Given the description of an element on the screen output the (x, y) to click on. 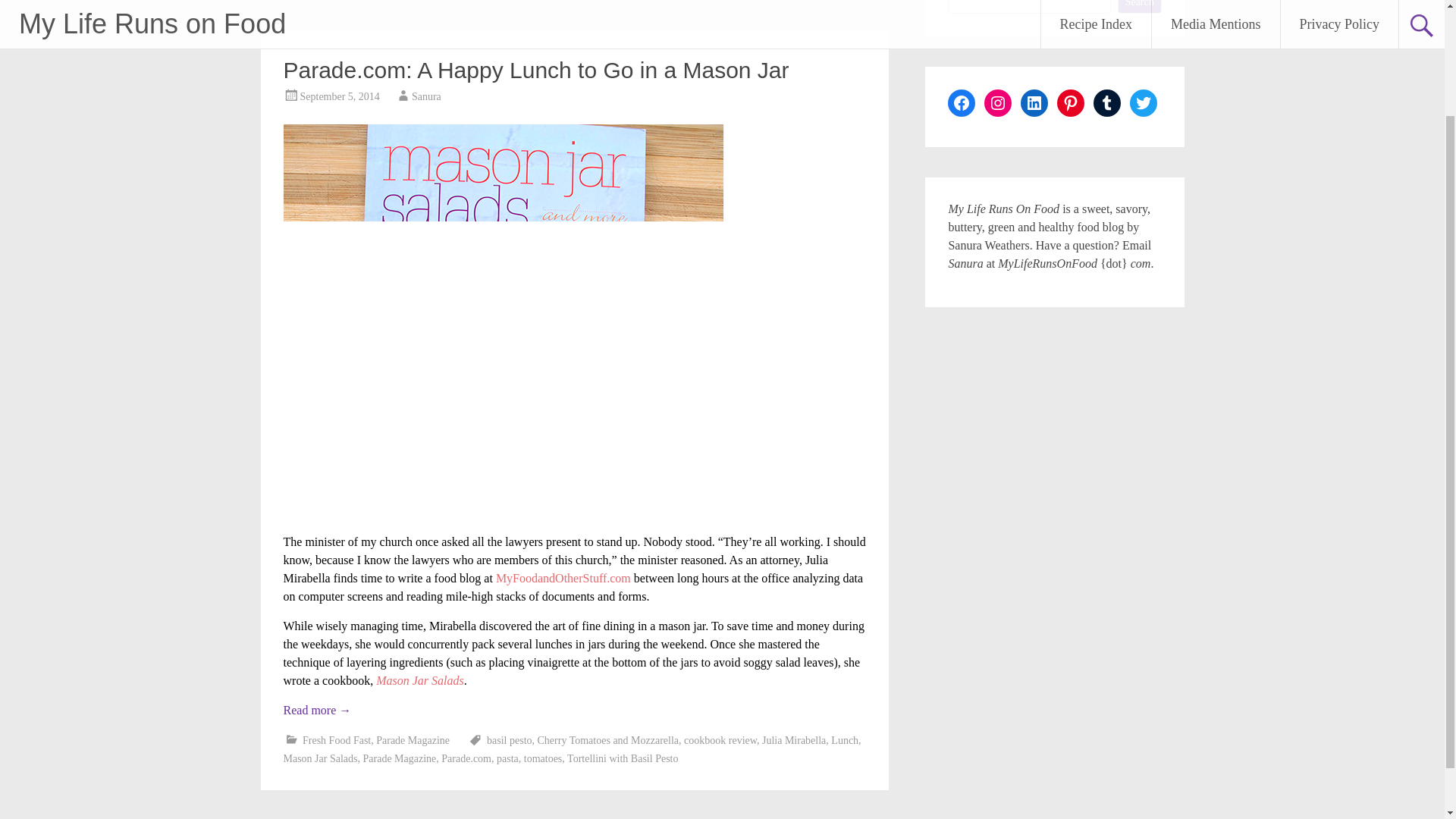
Facebook (961, 103)
tomatoes (543, 758)
Lunch (845, 740)
MyFoodandOtherStuff.com (563, 577)
pasta (507, 758)
Sanura (426, 96)
Tumblr (1107, 103)
Twitter (1143, 103)
Tortellini with Basil Pesto (622, 758)
Instagram (997, 103)
September 5, 2014 (339, 96)
LinkedIn (1034, 103)
Parade Magazine (398, 758)
Parade.com: A Happy Lunch to Go in a Mason Jar (536, 69)
Cherry Tomatoes and Mozzarella (608, 740)
